Given the description of an element on the screen output the (x, y) to click on. 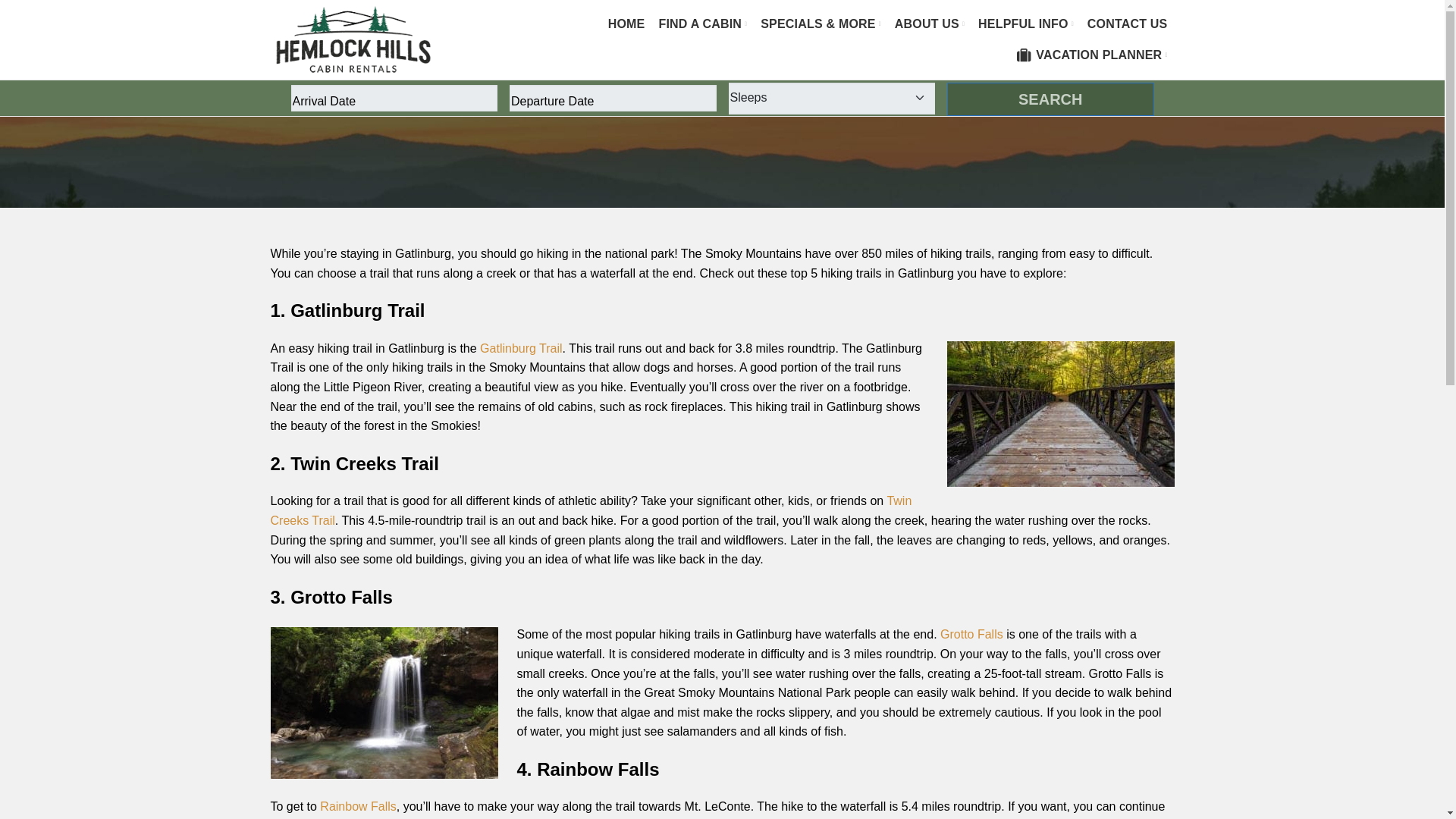
ABOUT US (929, 24)
VACATION PLANNER (1092, 55)
Search (1050, 99)
Search (1050, 99)
CONTACT US (1127, 24)
HELPFUL INFO (1025, 24)
FIND A CABIN (702, 24)
HOME (626, 24)
